Given the description of an element on the screen output the (x, y) to click on. 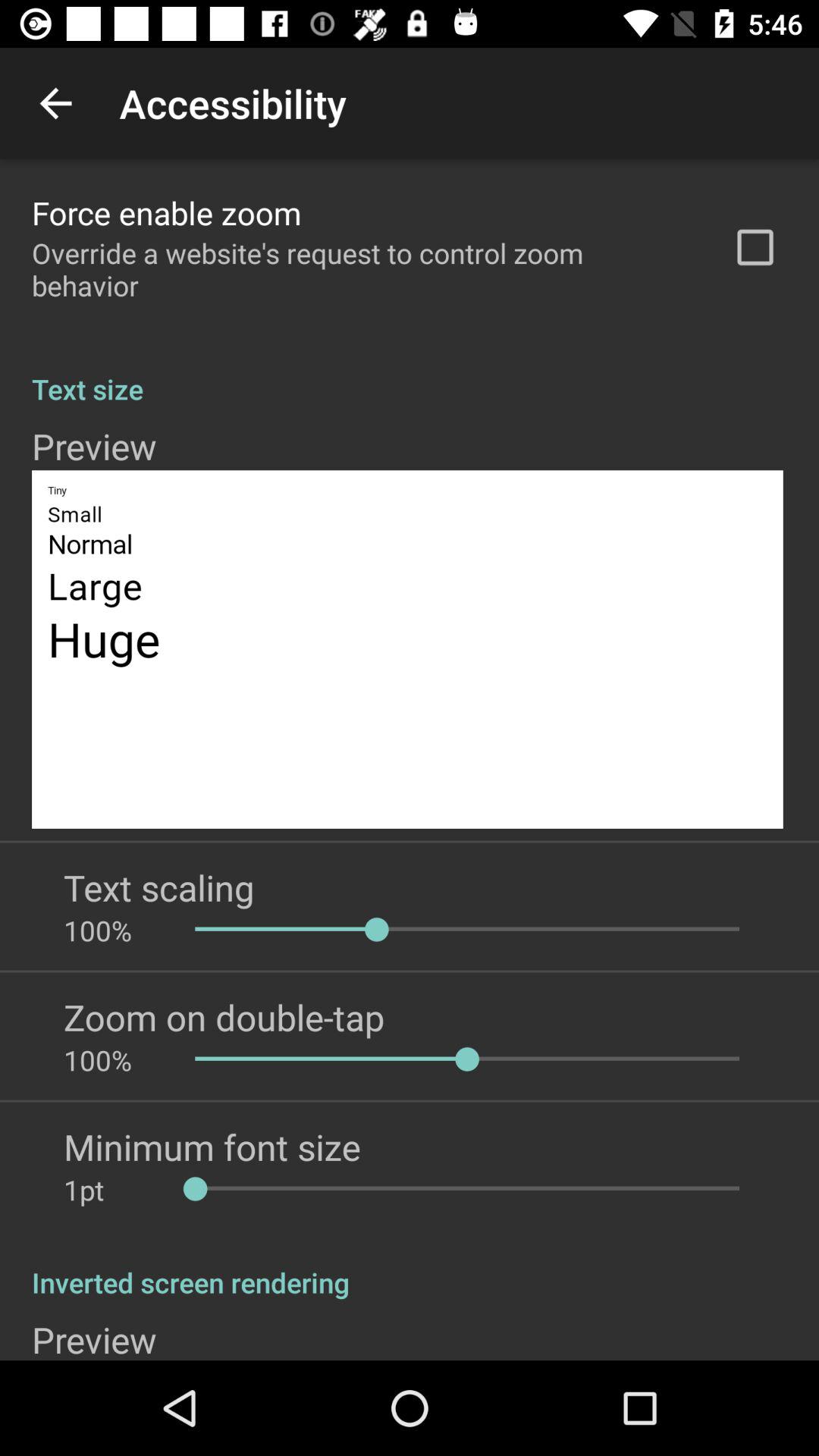
open icon above the preview icon (409, 372)
